Given the description of an element on the screen output the (x, y) to click on. 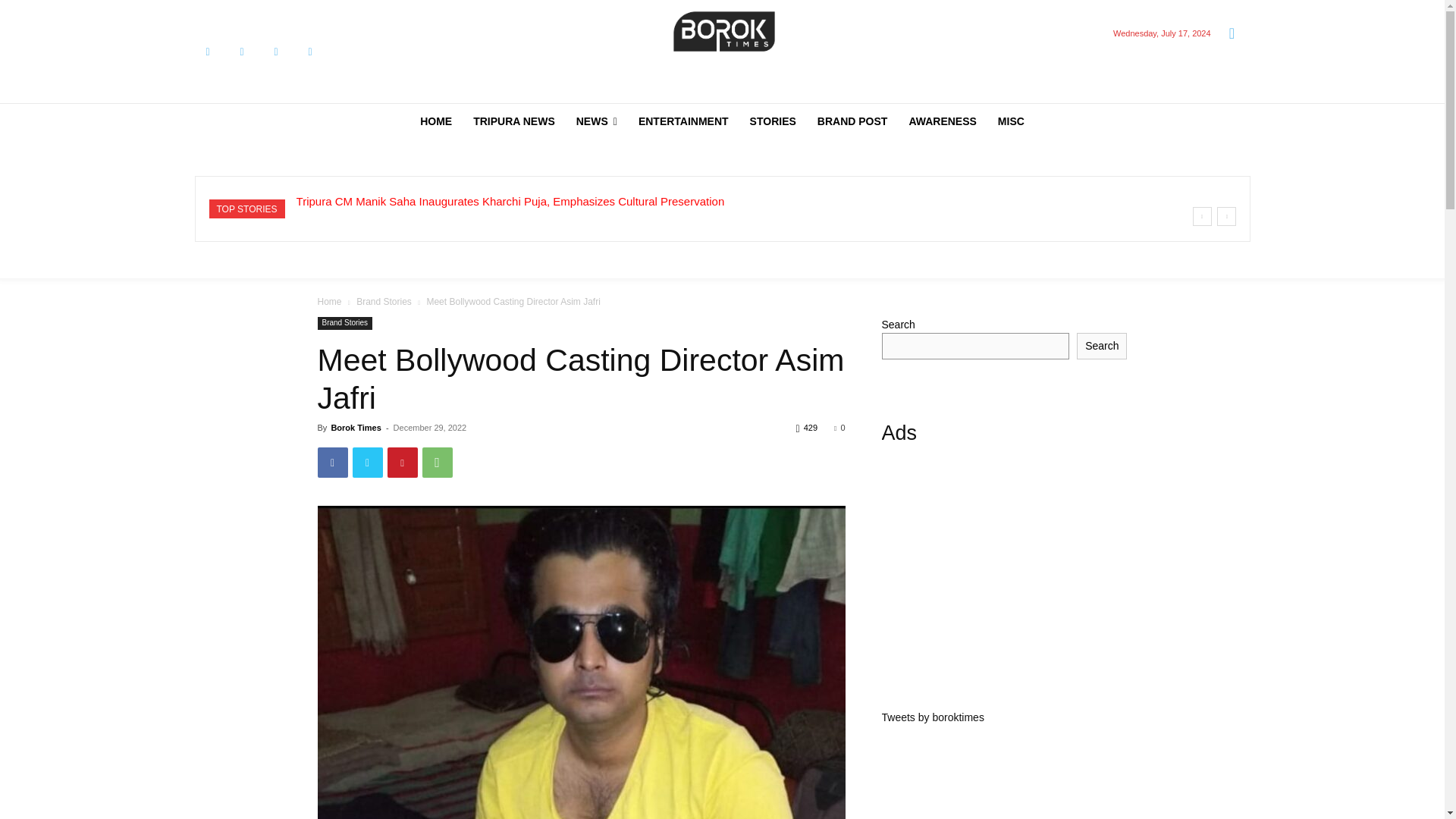
Youtube (310, 51)
HOME (436, 121)
Instagram (242, 51)
Facebook (207, 51)
AWARENESS (942, 121)
BRAND POST (852, 121)
MISC (1011, 121)
NEWS (596, 121)
STORIES (772, 121)
ENTERTAINMENT (683, 121)
Twitter (275, 51)
TRIPURA NEWS (514, 121)
